Given the description of an element on the screen output the (x, y) to click on. 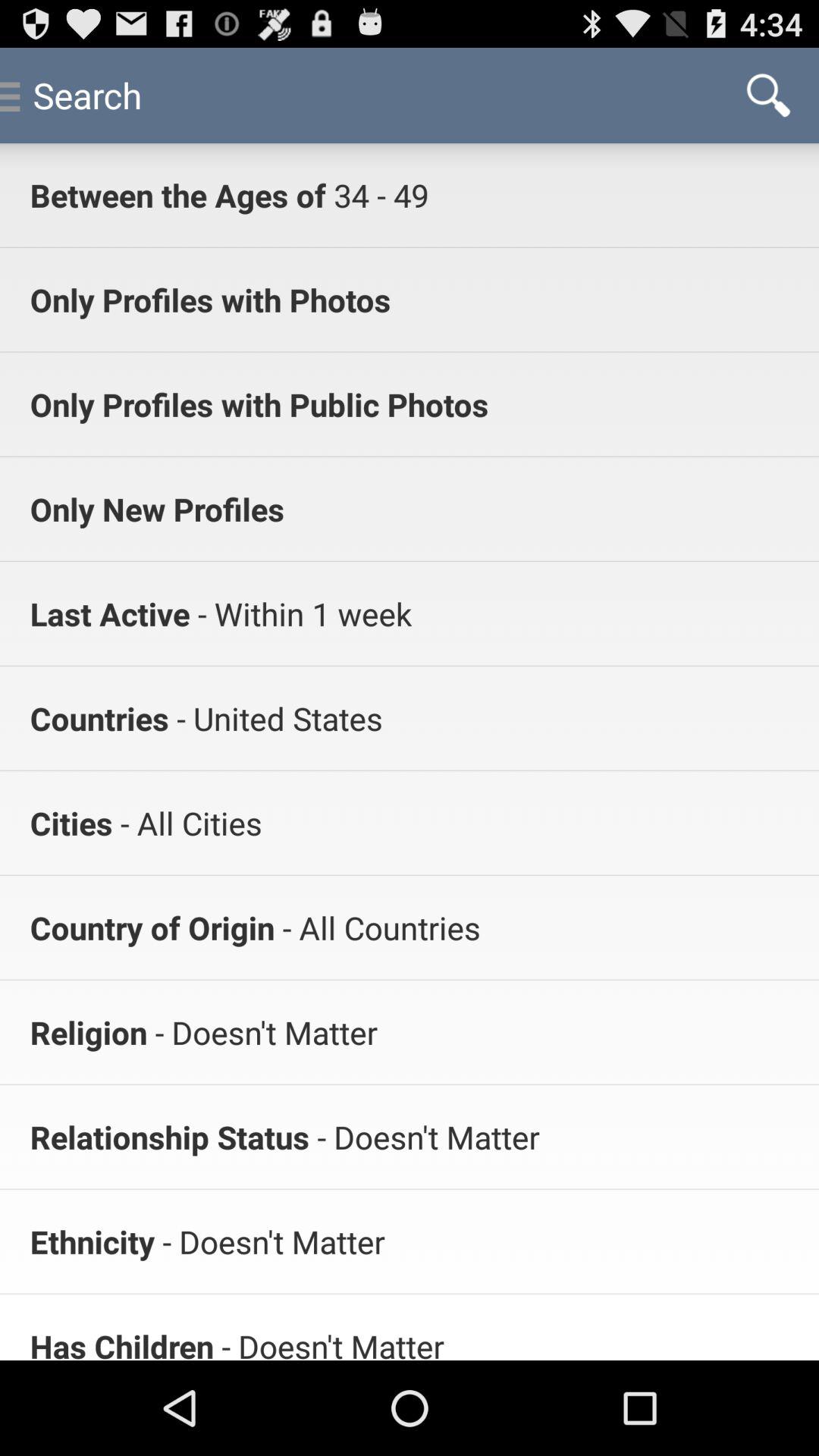
launch item to the right of cities icon (187, 822)
